Given the description of an element on the screen output the (x, y) to click on. 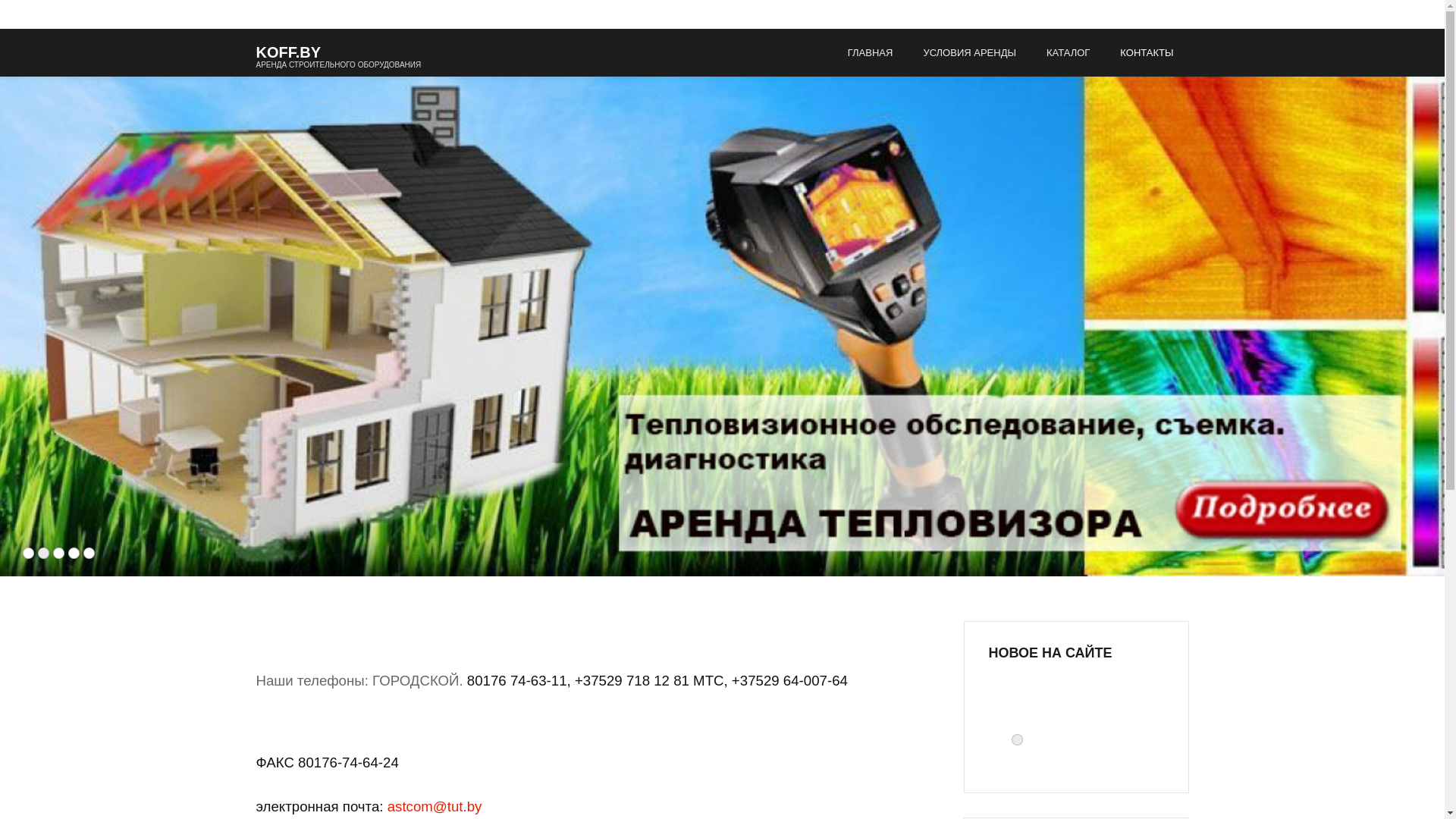
astcom@tut.by Element type: text (434, 806)
